Given the description of an element on the screen output the (x, y) to click on. 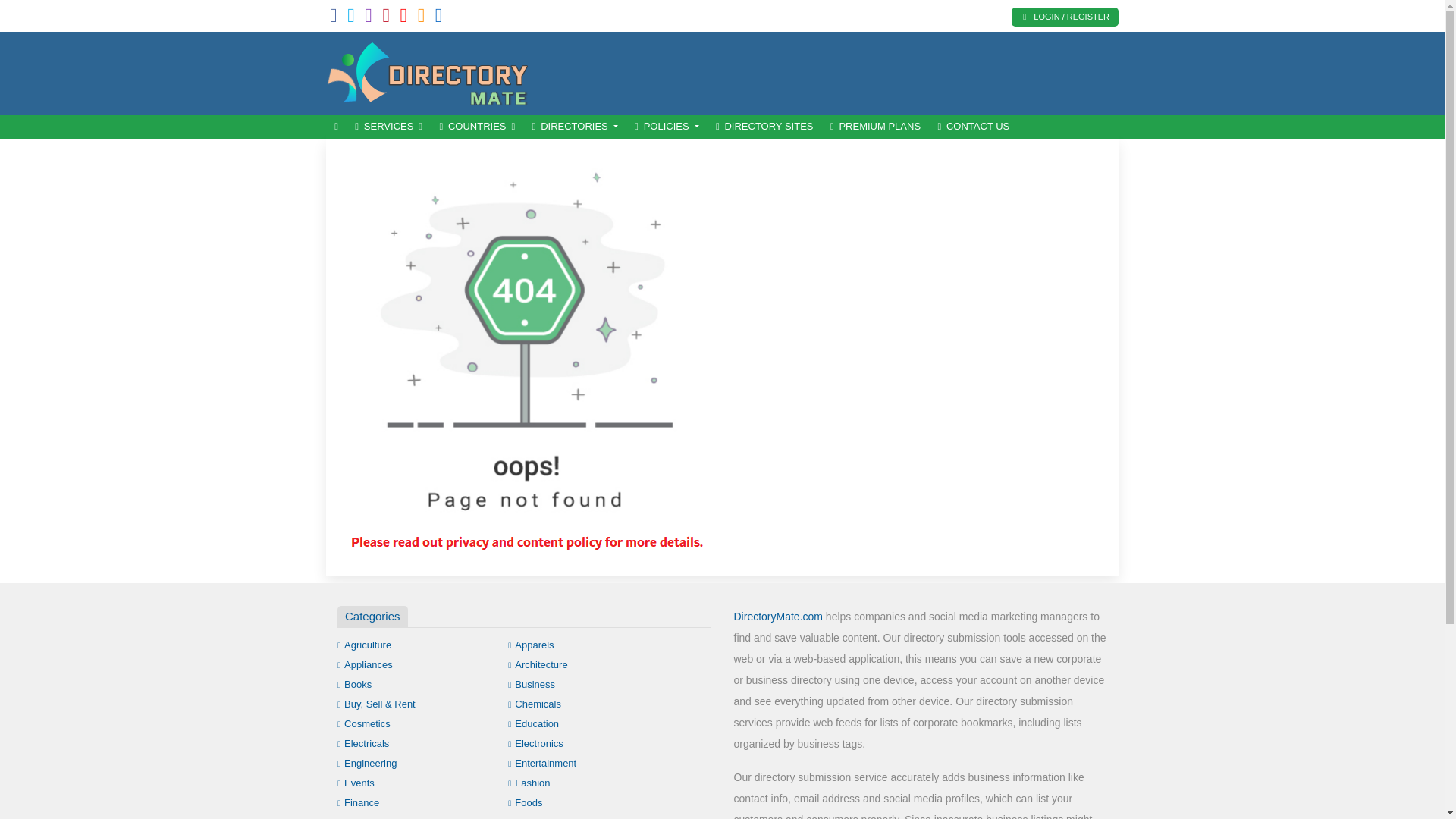
SERVICES (388, 126)
Top Business Directory Service to Promote Product Website (428, 71)
COUNTRIES (476, 126)
